Given the description of an element on the screen output the (x, y) to click on. 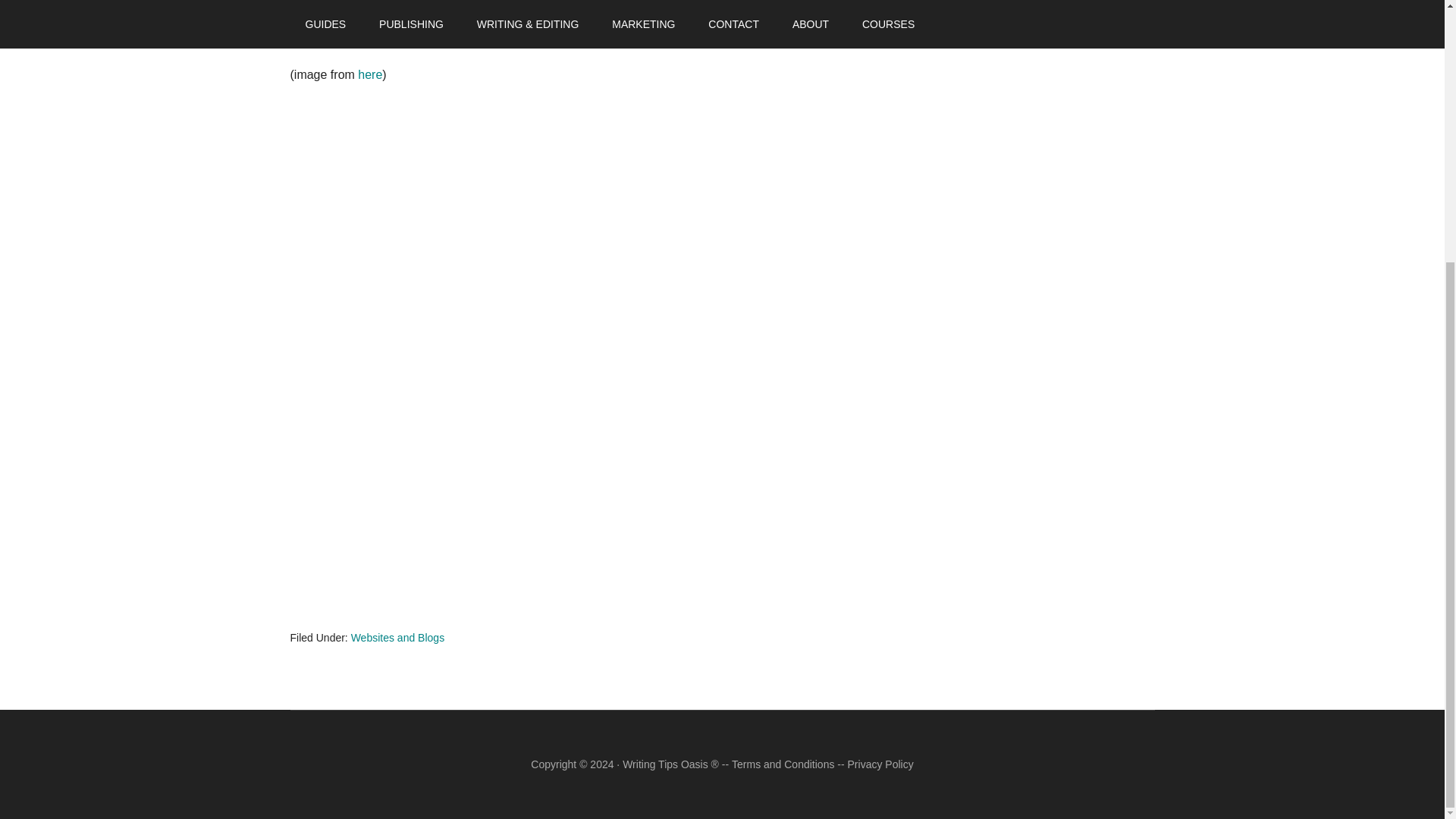
Terms and Conditions (783, 764)
blog (387, 35)
Privacy Policy (880, 764)
Websites and Blogs (397, 637)
here (369, 74)
